Given the description of an element on the screen output the (x, y) to click on. 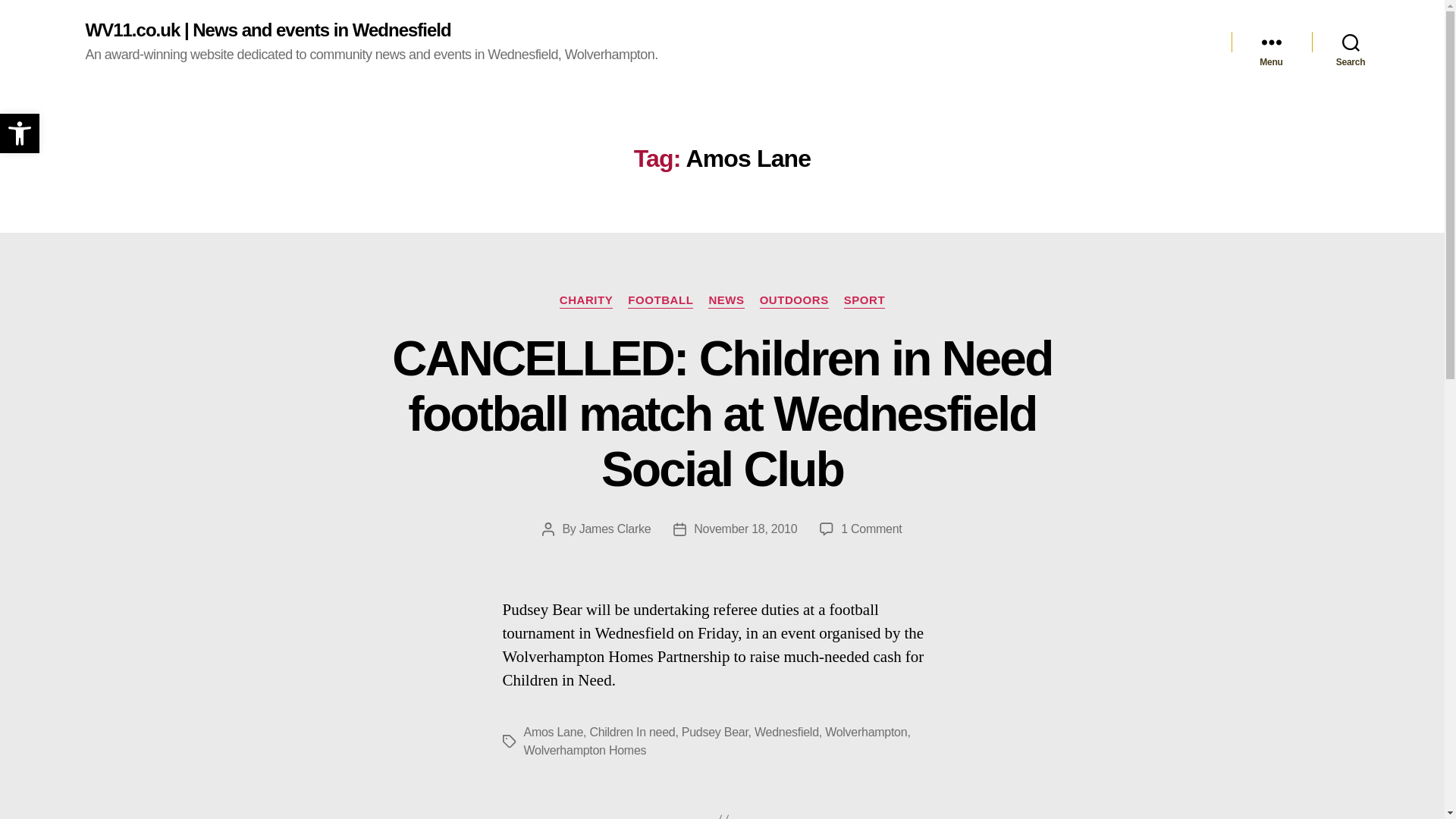
FOOTBALL (660, 300)
CHARITY (585, 300)
SPORT (864, 300)
James Clarke (614, 528)
Open toolbar (19, 133)
